Given the description of an element on the screen output the (x, y) to click on. 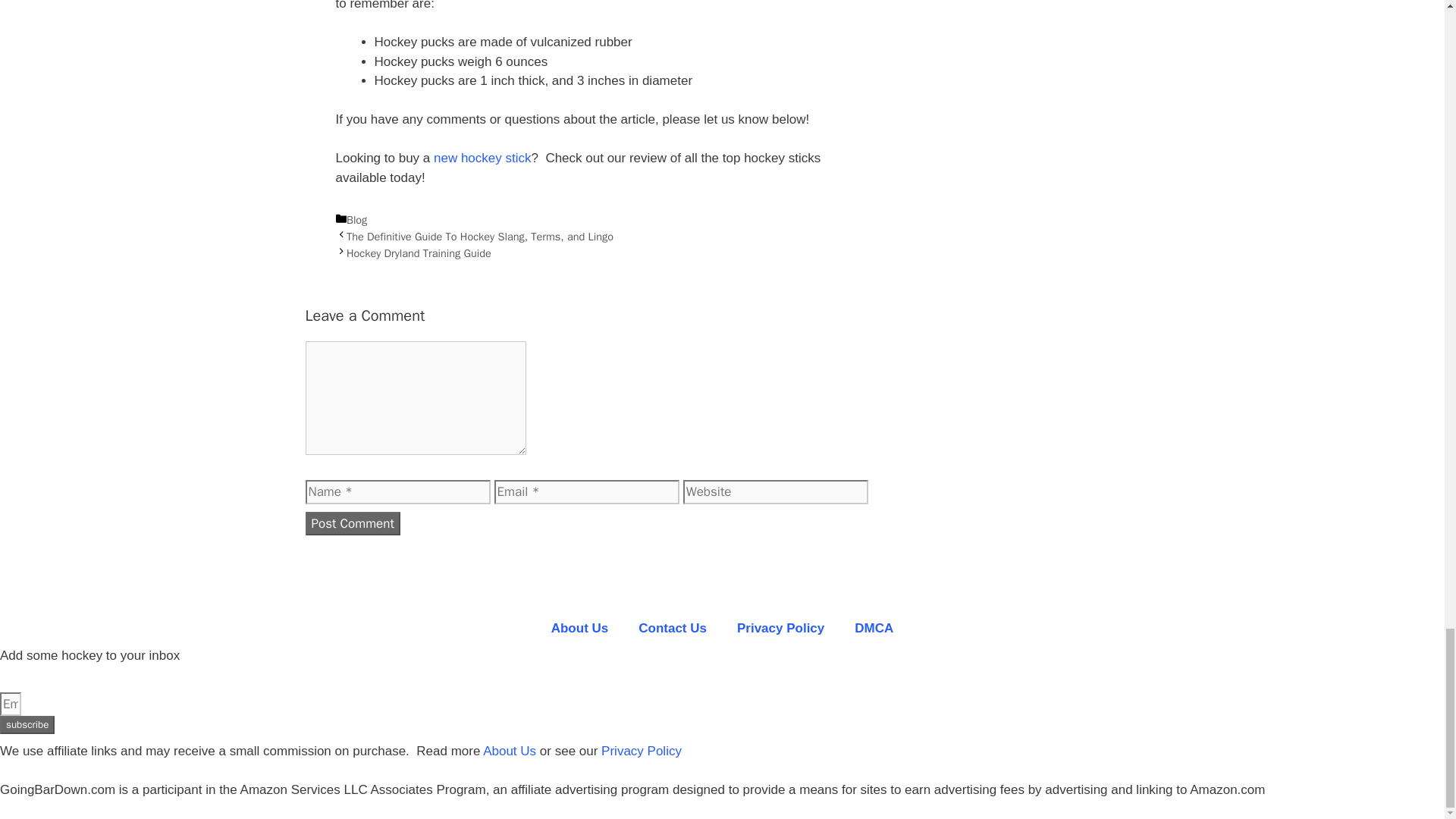
Post Comment (351, 523)
